Given the description of an element on the screen output the (x, y) to click on. 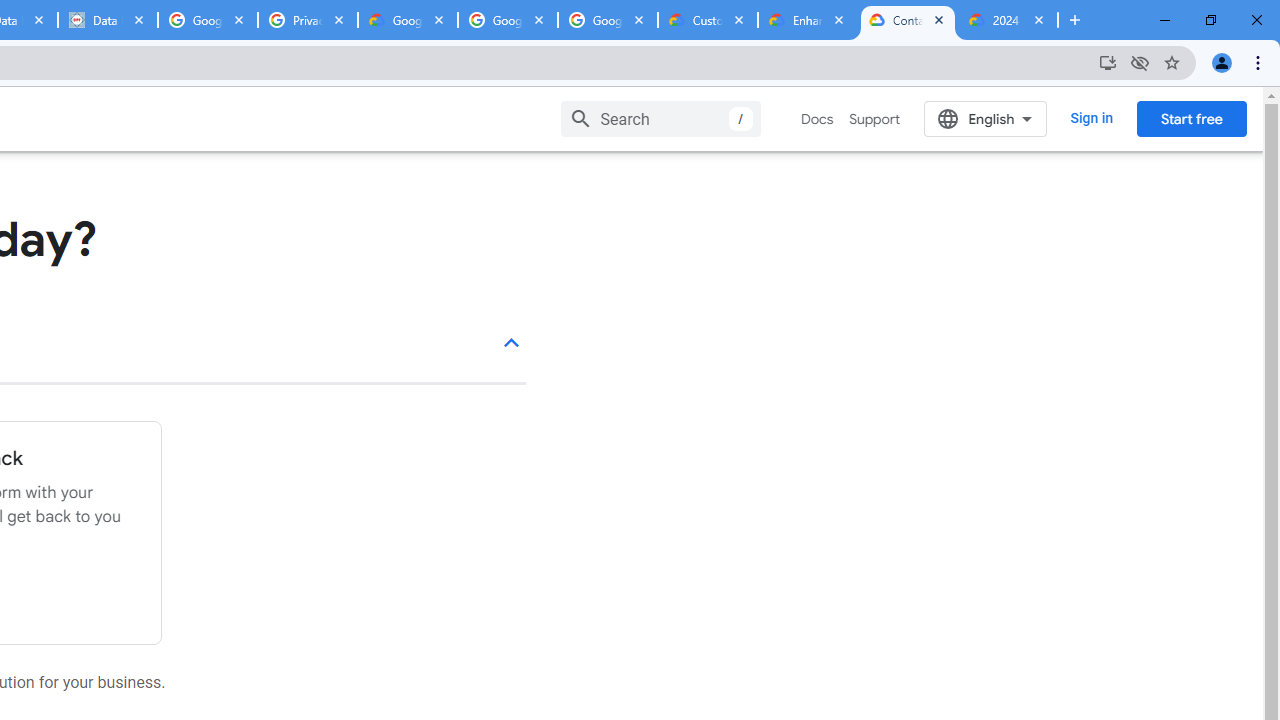
Google Workspace - Specific Terms (508, 20)
Docs (817, 119)
Enhanced Support | Google Cloud (807, 20)
Install Google Cloud (1107, 62)
Customer Care | Google Cloud (707, 20)
Data Privacy Framework (107, 20)
